Given the description of an element on the screen output the (x, y) to click on. 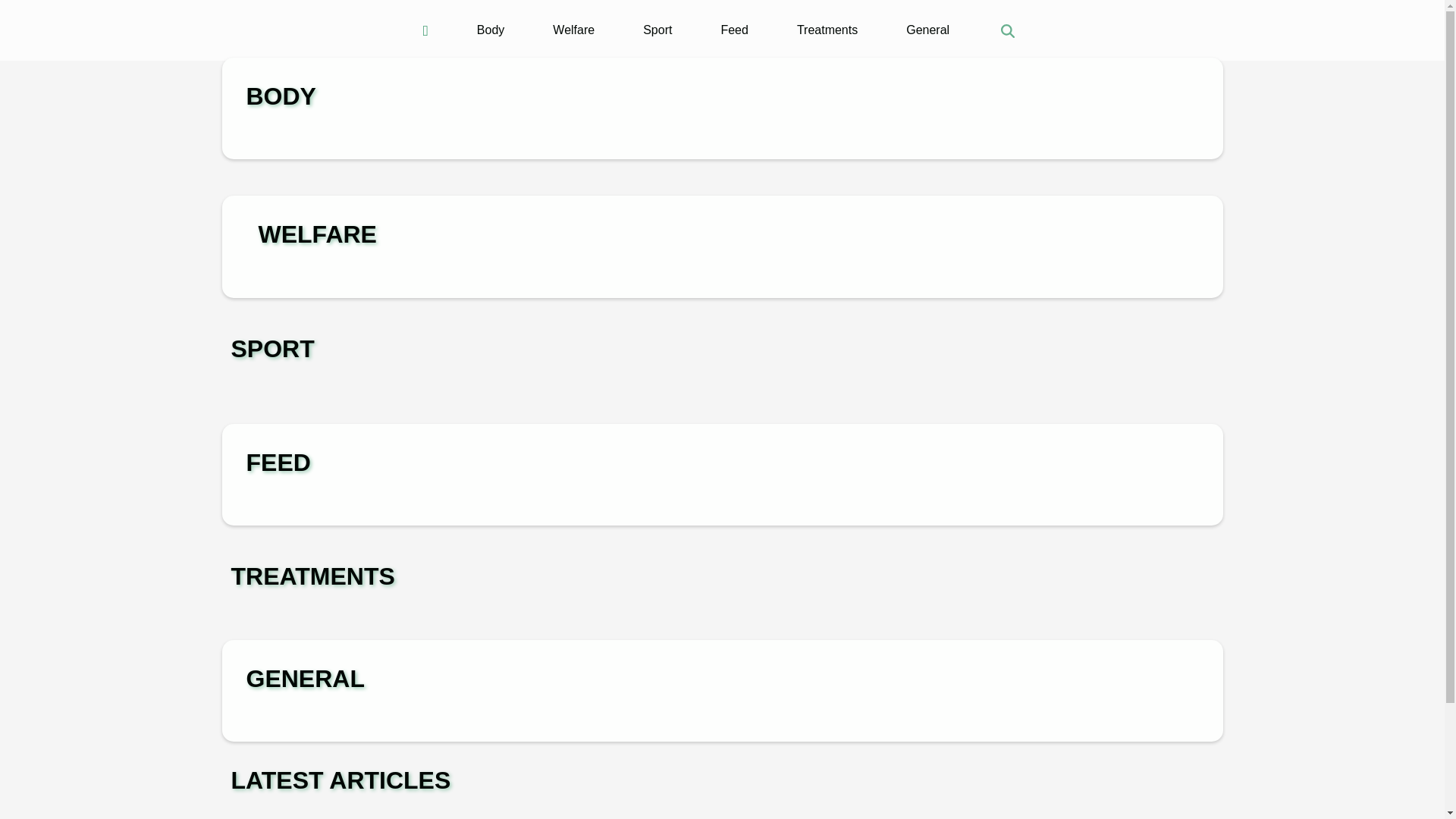
Sport (657, 30)
Body (490, 30)
Welfare (573, 30)
Treatments (826, 30)
Feed (734, 30)
General (927, 30)
